Given the description of an element on the screen output the (x, y) to click on. 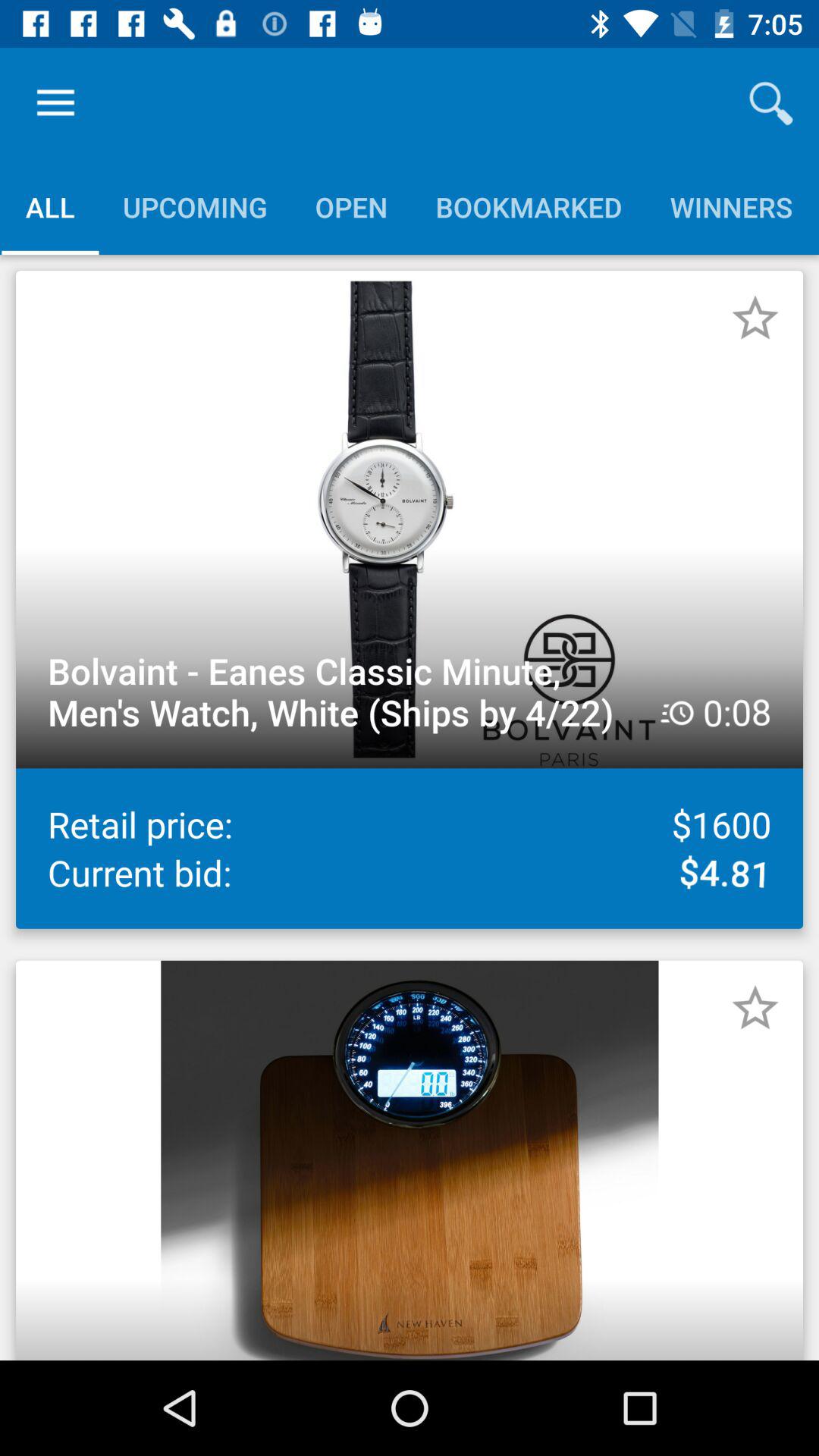
money saving app (755, 318)
